Given the description of an element on the screen output the (x, y) to click on. 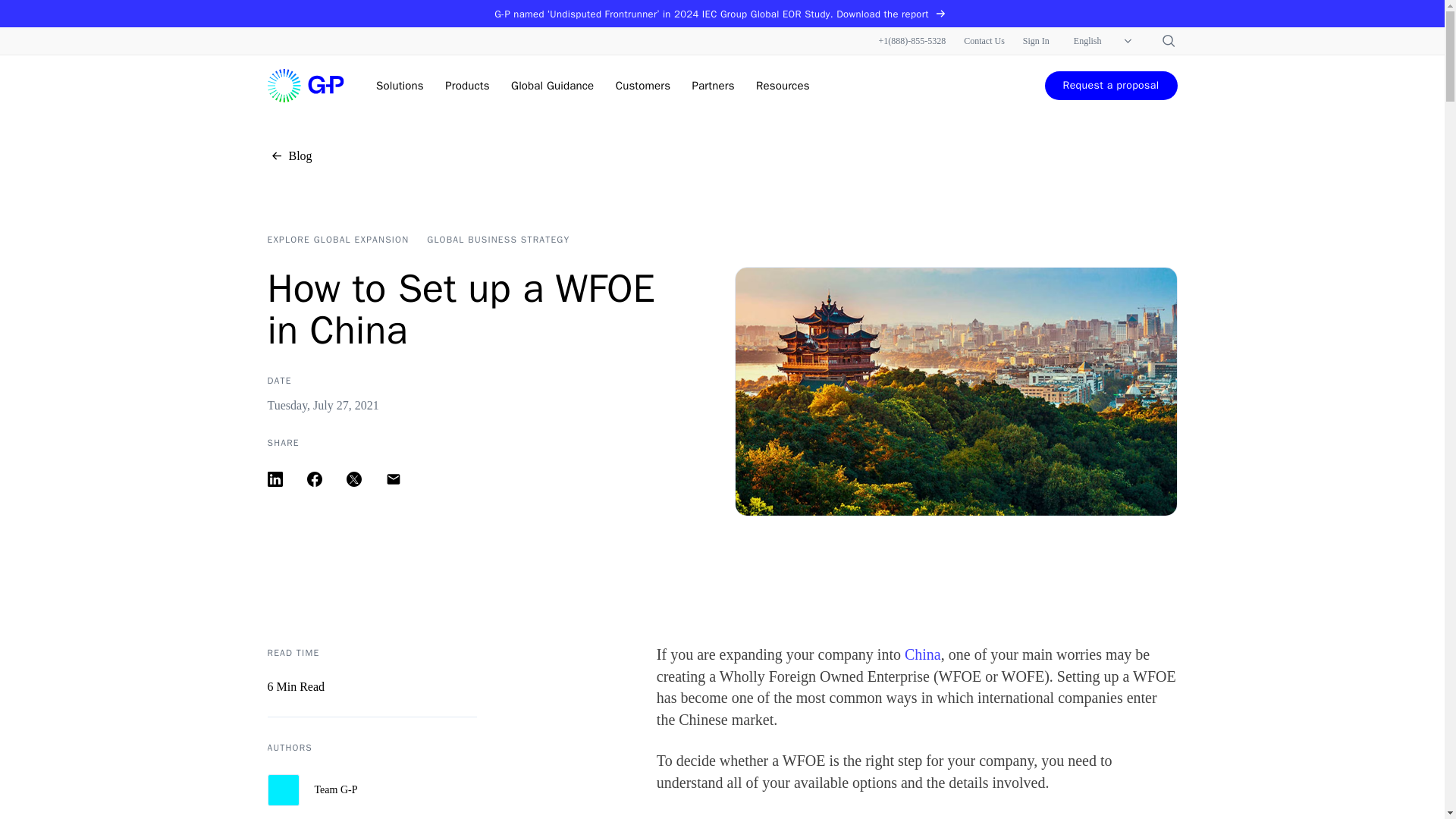
Customers (642, 85)
China (922, 654)
Global Guidance (552, 85)
Contact Us (983, 40)
Products (467, 85)
Solutions (399, 85)
Blog (288, 156)
English (1104, 40)
Partners (714, 85)
Request a proposal (1111, 85)
Sign In (1036, 40)
Resources (782, 85)
